Given the description of an element on the screen output the (x, y) to click on. 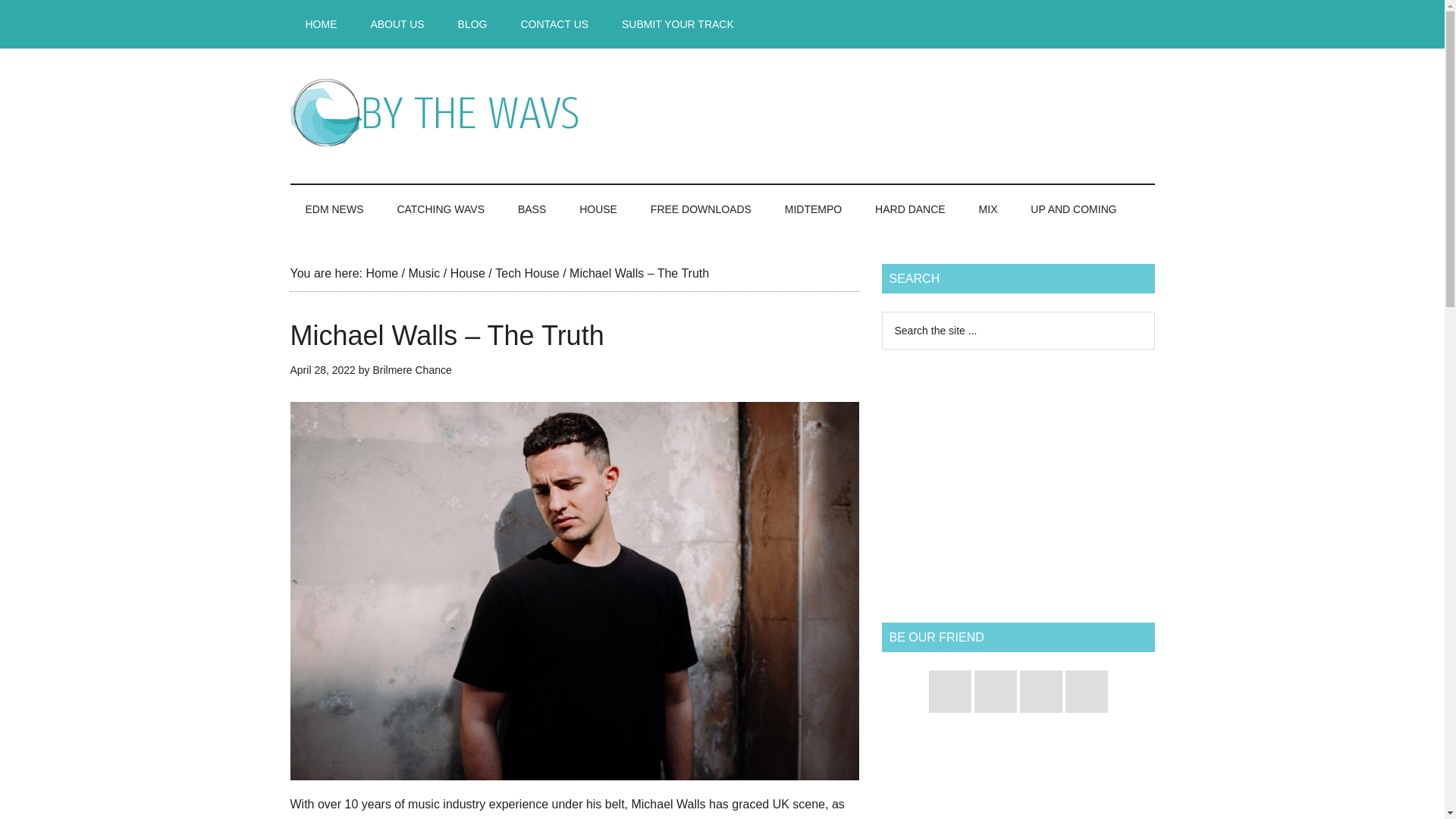
EDM NEWS (333, 209)
Advertisement (1017, 782)
FREE DOWNLOADS (700, 209)
ABOUT US (397, 24)
MIX (988, 209)
BLOG (472, 24)
CONTACT US (554, 24)
HARD DANCE (910, 209)
Advertisement (878, 112)
